Given the description of an element on the screen output the (x, y) to click on. 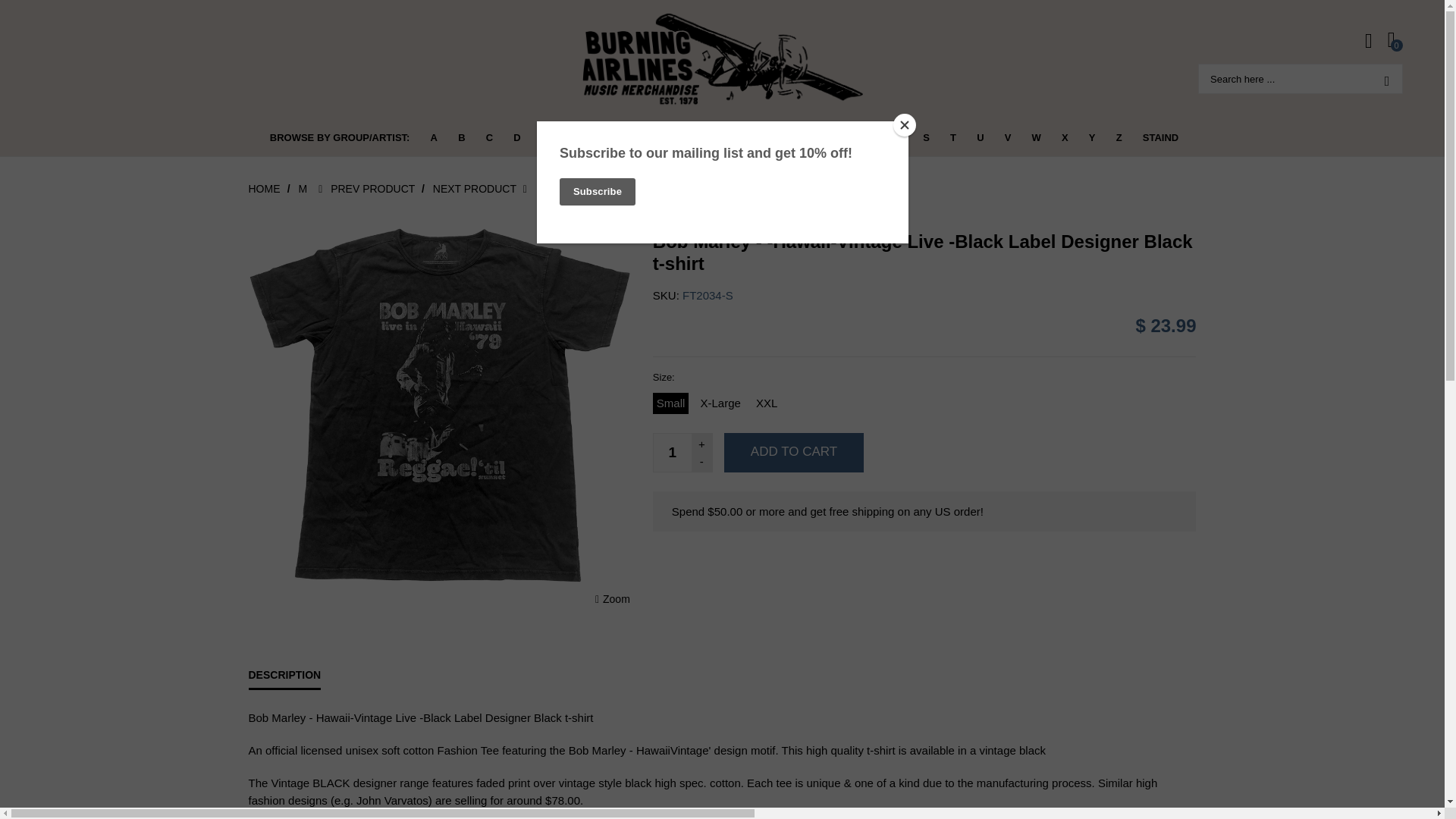
burning airlines (722, 59)
1 (672, 452)
- (701, 461)
